Given the description of an element on the screen output the (x, y) to click on. 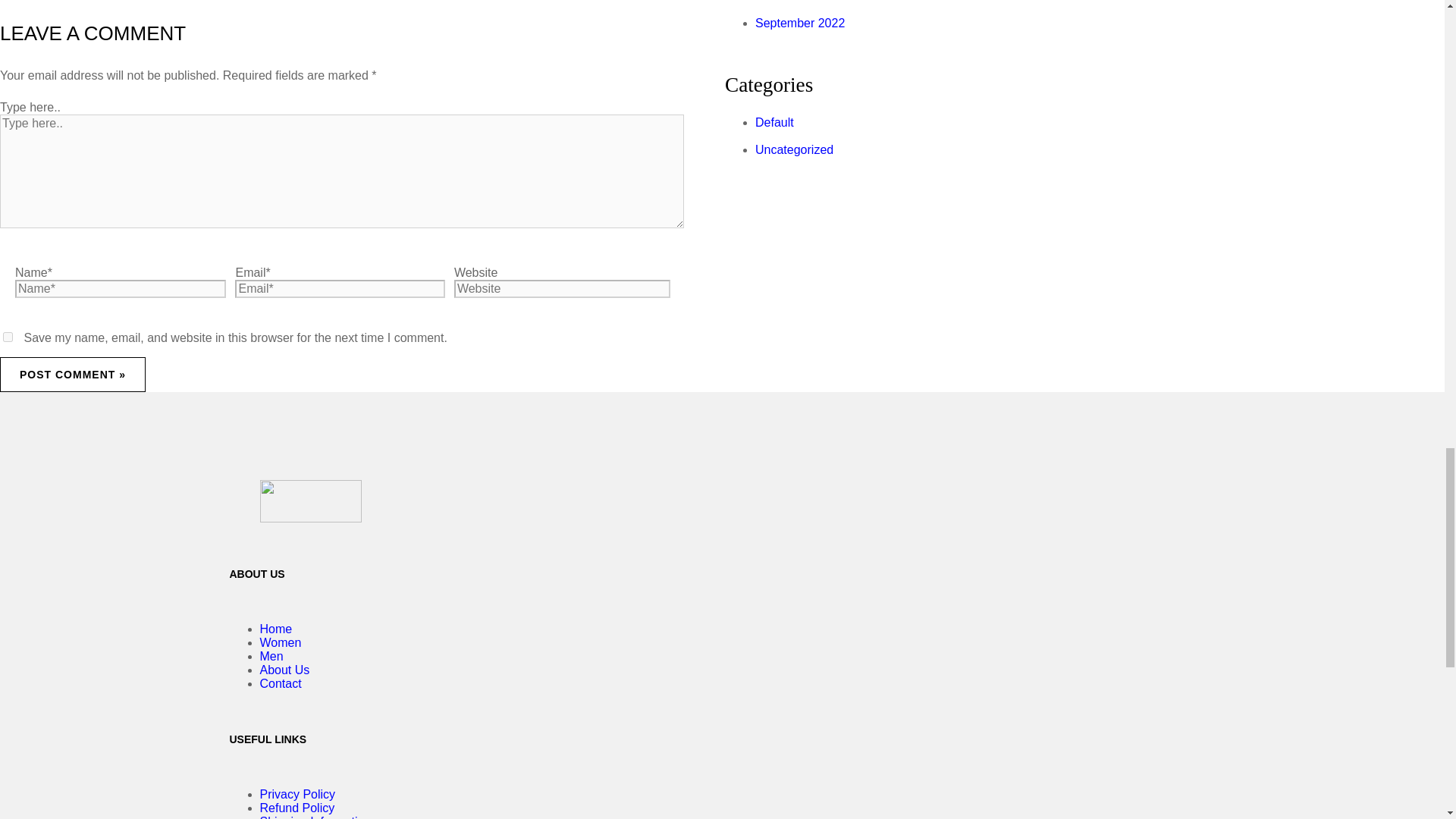
yes (7, 337)
